Given the description of an element on the screen output the (x, y) to click on. 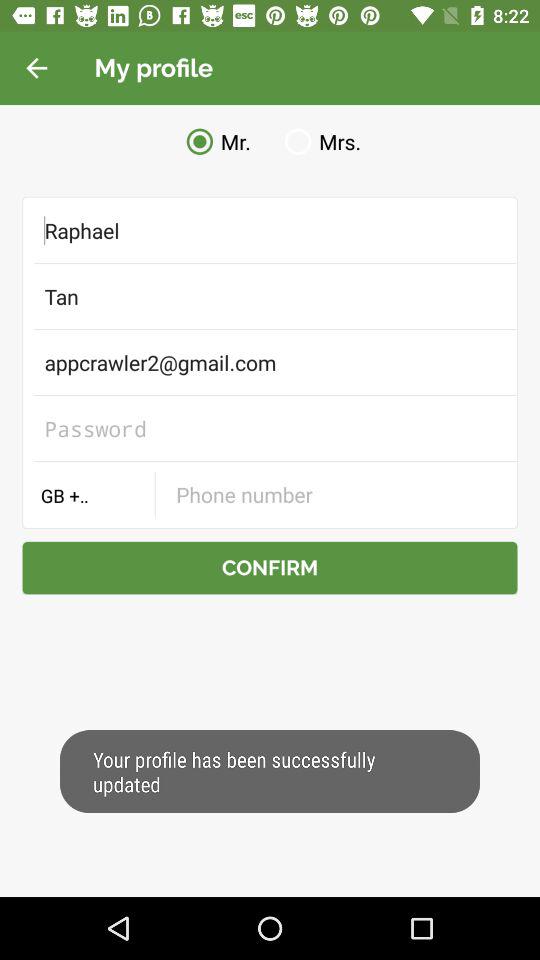
the field is used to type in the login 's password (269, 428)
